Given the description of an element on the screen output the (x, y) to click on. 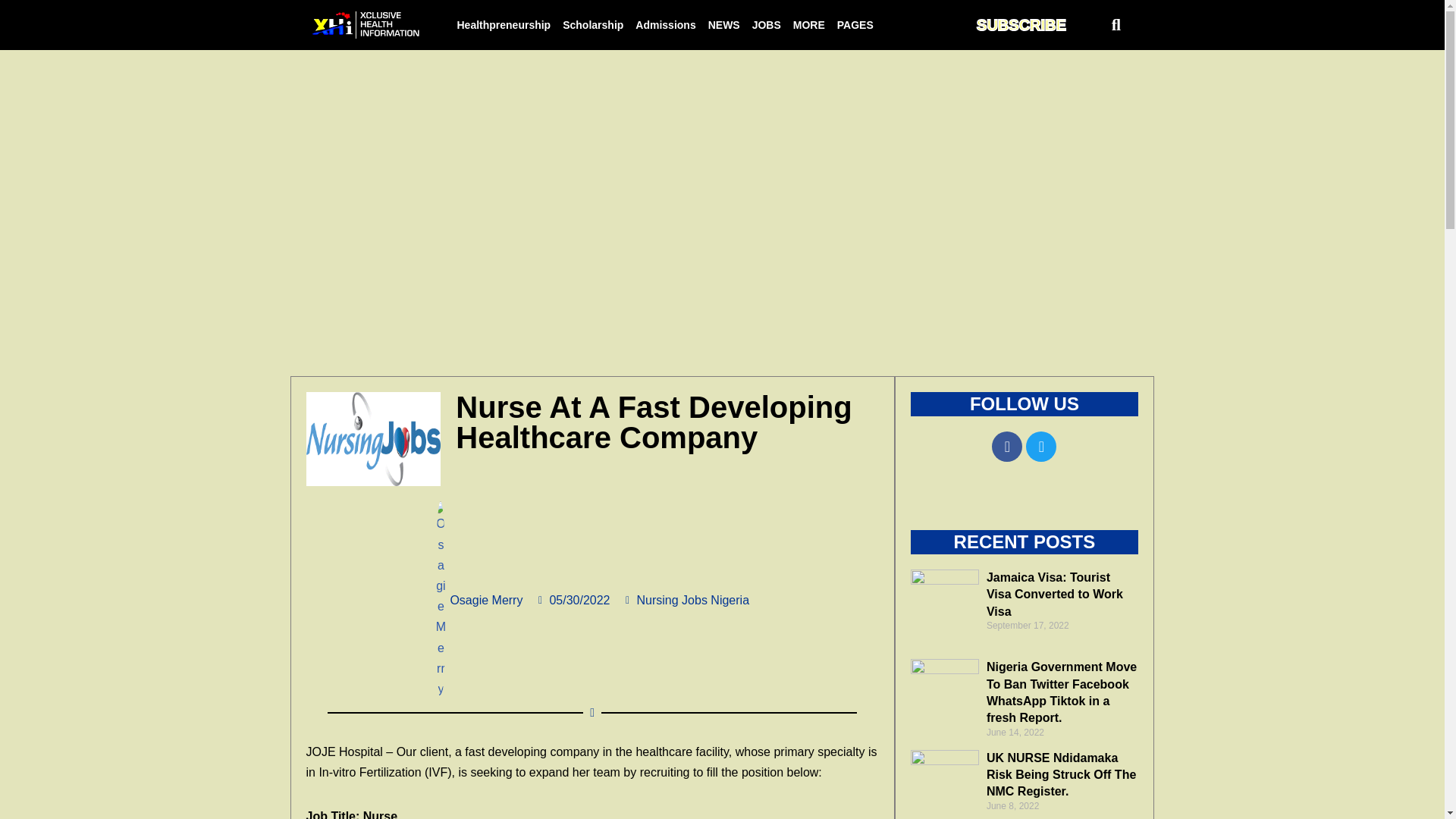
PAGES (855, 24)
Scholarship (592, 24)
Healthpreneurship (502, 24)
Skip to content (11, 31)
SUBSCRIBE (1020, 24)
NEWS (723, 24)
JOBS (766, 24)
Nursing Jobs Nigeria (693, 599)
Admissions (664, 24)
MORE (809, 24)
